Given the description of an element on the screen output the (x, y) to click on. 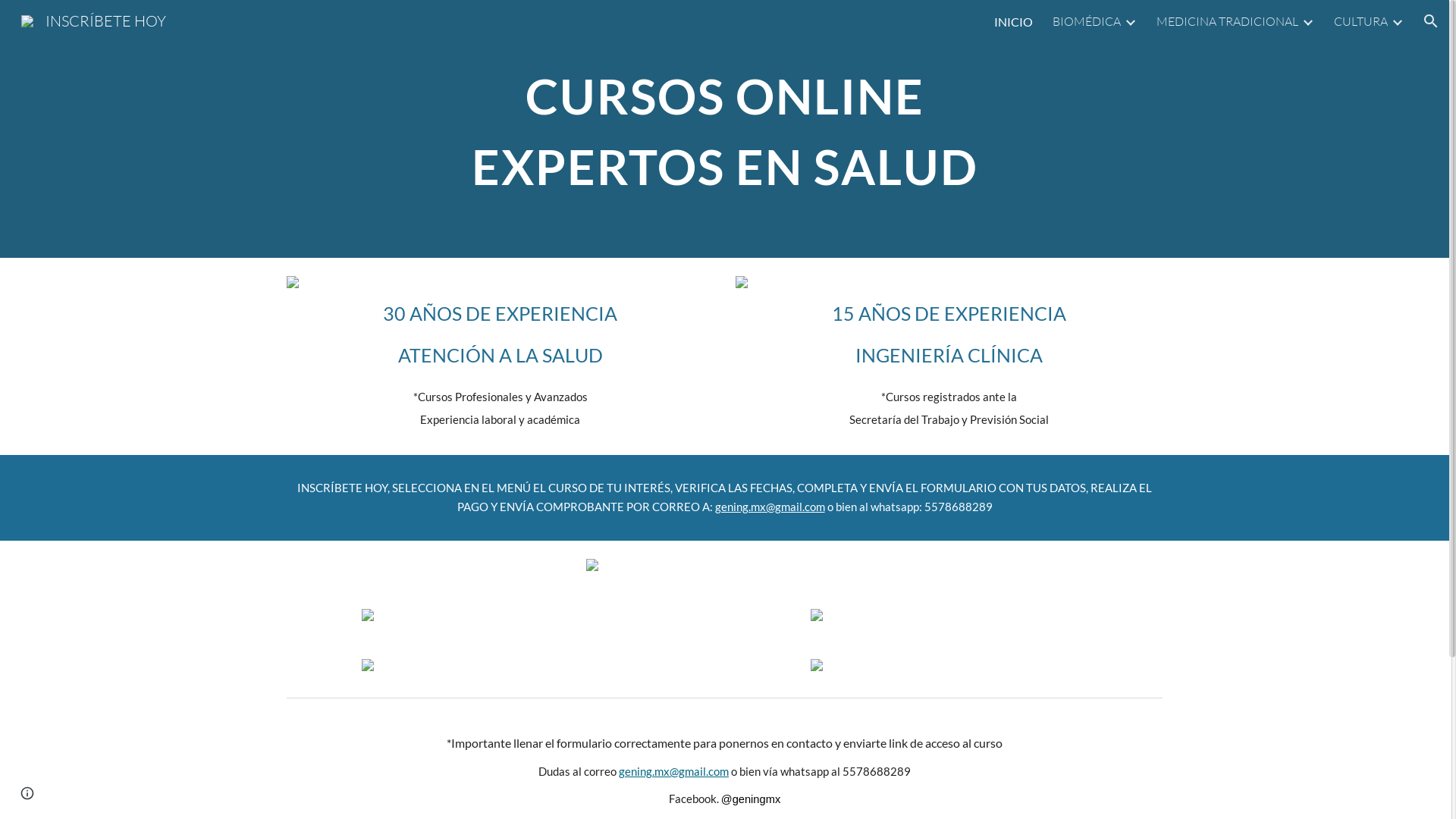
Expand/Collapse Element type: hover (1396, 20)
Expand/Collapse Element type: hover (1307, 20)
Expand/Collapse Element type: hover (1129, 20)
INICIO Element type: text (1013, 20)
MEDICINA TRADICIONAL Element type: text (1227, 20)
CULTURA Element type: text (1360, 20)
gening.mx@gmail.com Element type: text (769, 506)
gening.mx@gmail.com Element type: text (673, 771)
